Given the description of an element on the screen output the (x, y) to click on. 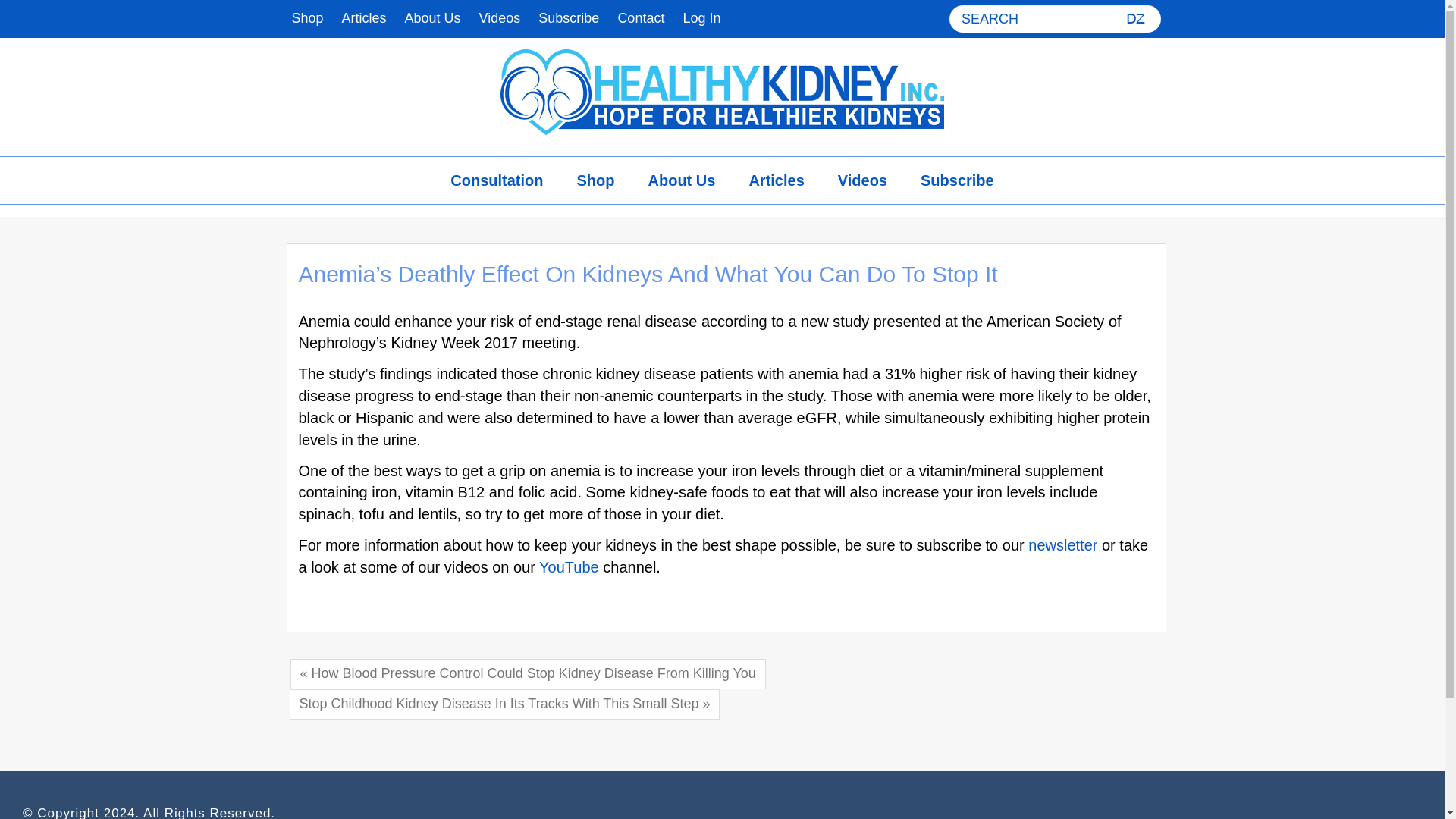
Consultation (496, 180)
newsletter (1062, 545)
Contact (640, 18)
Subscribe (568, 18)
Videos (862, 180)
Log In (700, 18)
About Us (433, 18)
YouTube (568, 566)
